Given the description of an element on the screen output the (x, y) to click on. 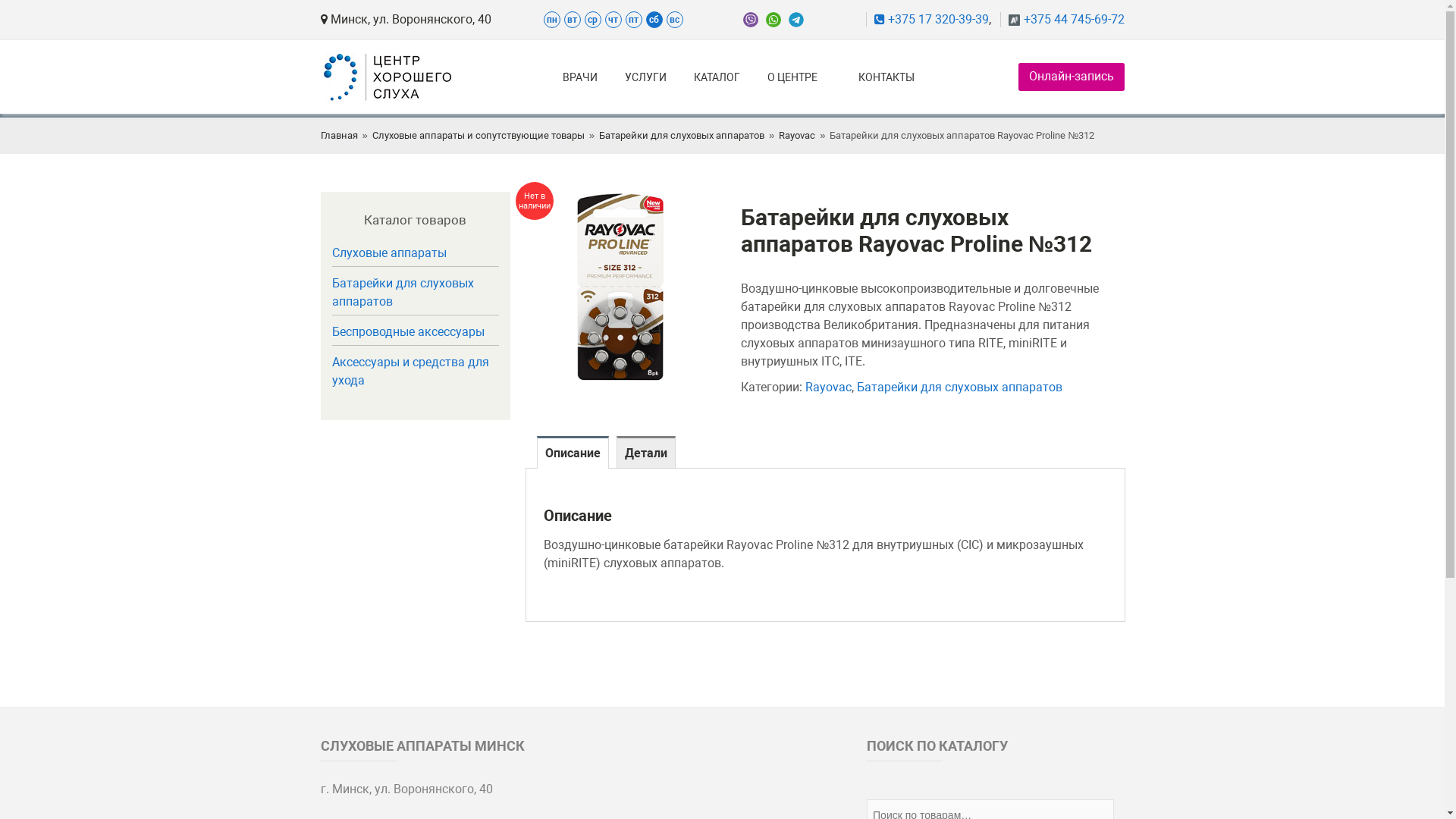
rayovac_proline_312_6 Element type: hover (619, 286)
Rayovac Element type: text (828, 386)
rayovac_proline_312_6 Element type: hover (623, 286)
+375 17 320-39-39 Element type: text (927, 19)
Rayovac Element type: text (796, 135)
+375 44 745-69-72 Element type: text (1061, 19)
